Given the description of an element on the screen output the (x, y) to click on. 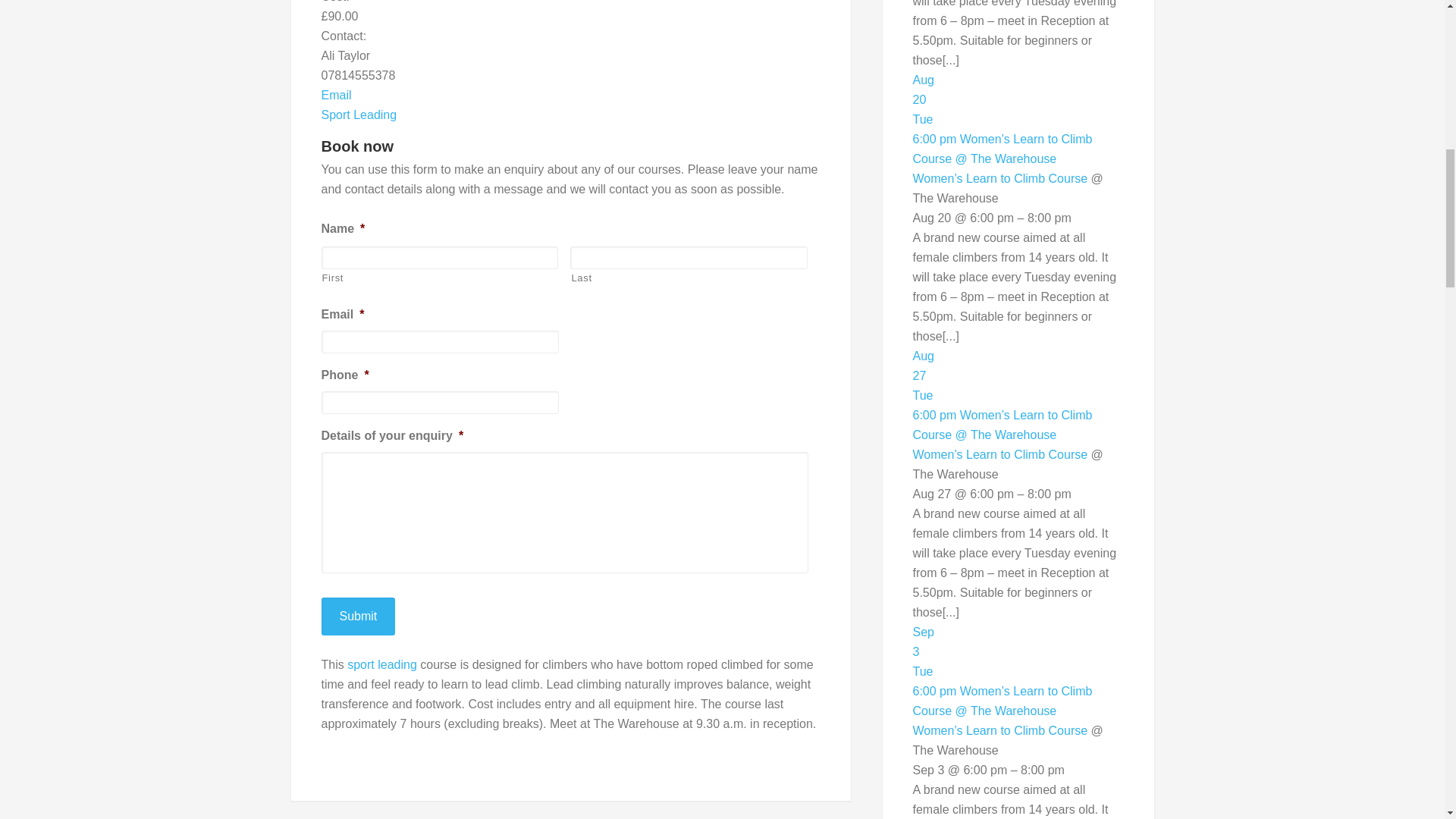
Submit (358, 616)
Email (336, 94)
Sport Leading (359, 114)
Submit (358, 616)
sport leading (381, 664)
